Given the description of an element on the screen output the (x, y) to click on. 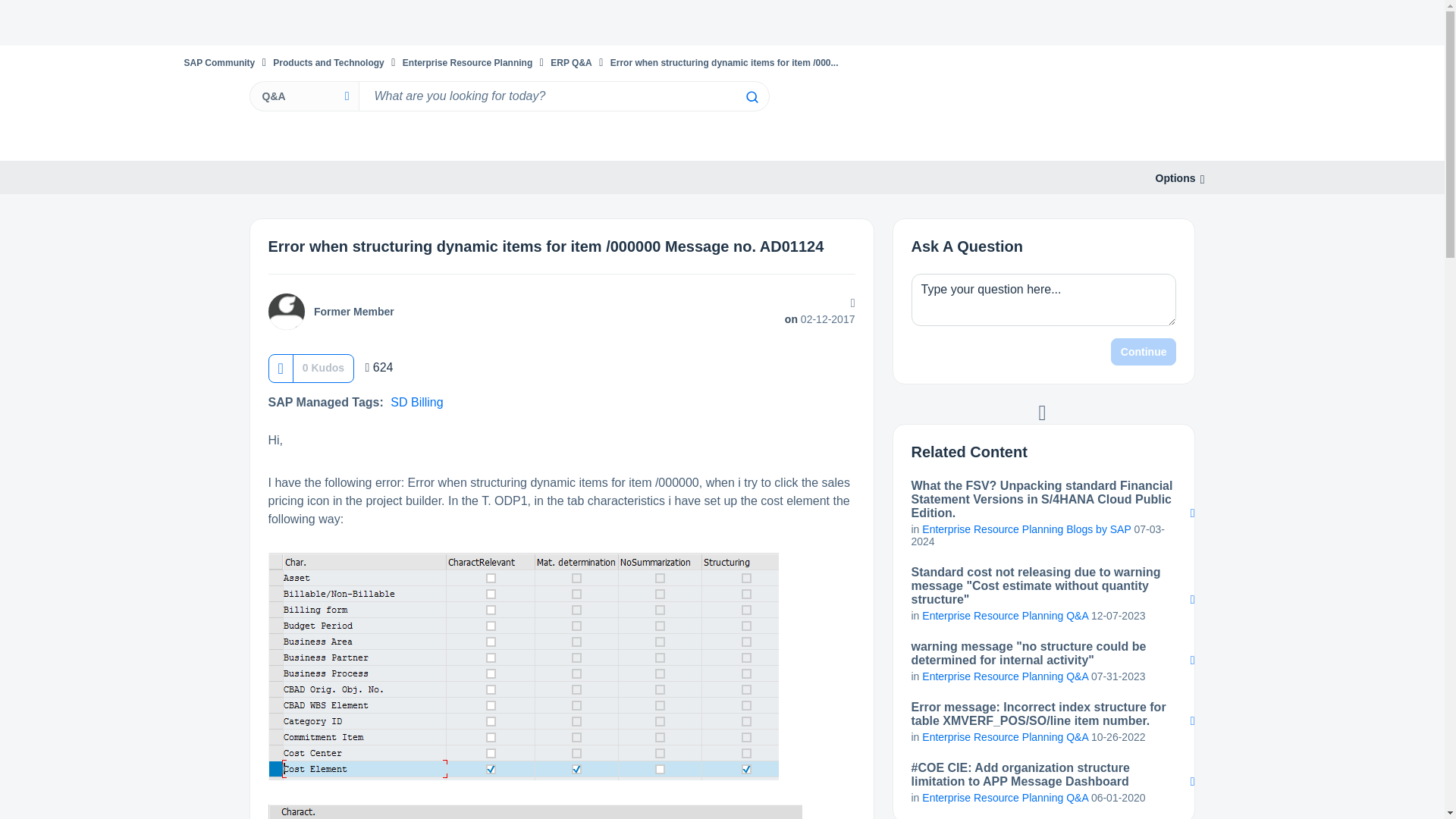
Search Granularity (303, 96)
The total number of kudos this post has received. (323, 367)
SAP Community (218, 62)
Products and Technology (328, 62)
SD Billing (416, 401)
Search (750, 96)
Options (1176, 178)
Continue (1143, 351)
Search (563, 96)
Search (750, 96)
